Given the description of an element on the screen output the (x, y) to click on. 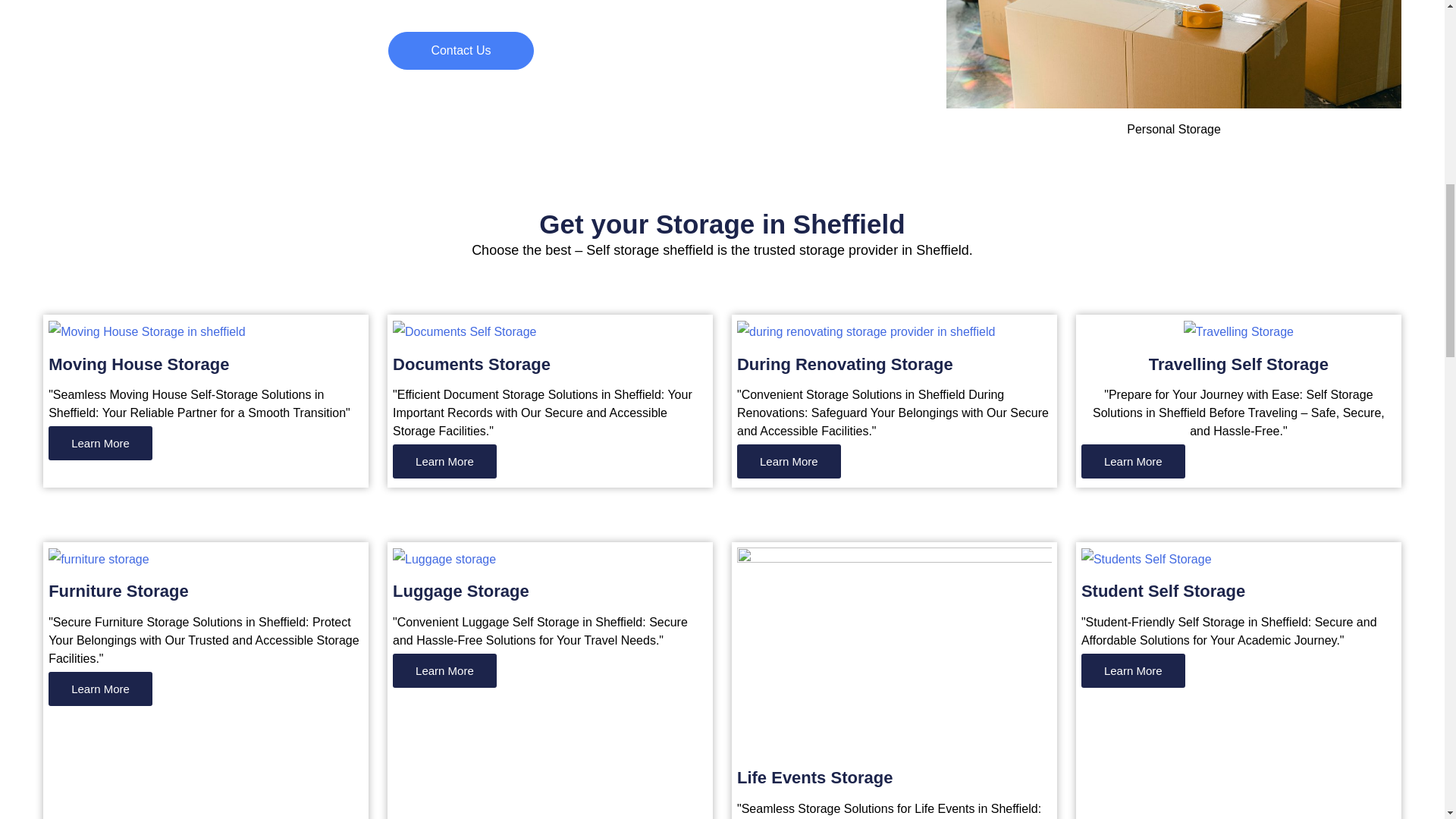
Learn More (100, 442)
Contact Us (460, 50)
Get your Storage in Sheffield (721, 224)
Moving House Storage (138, 363)
